Given the description of an element on the screen output the (x, y) to click on. 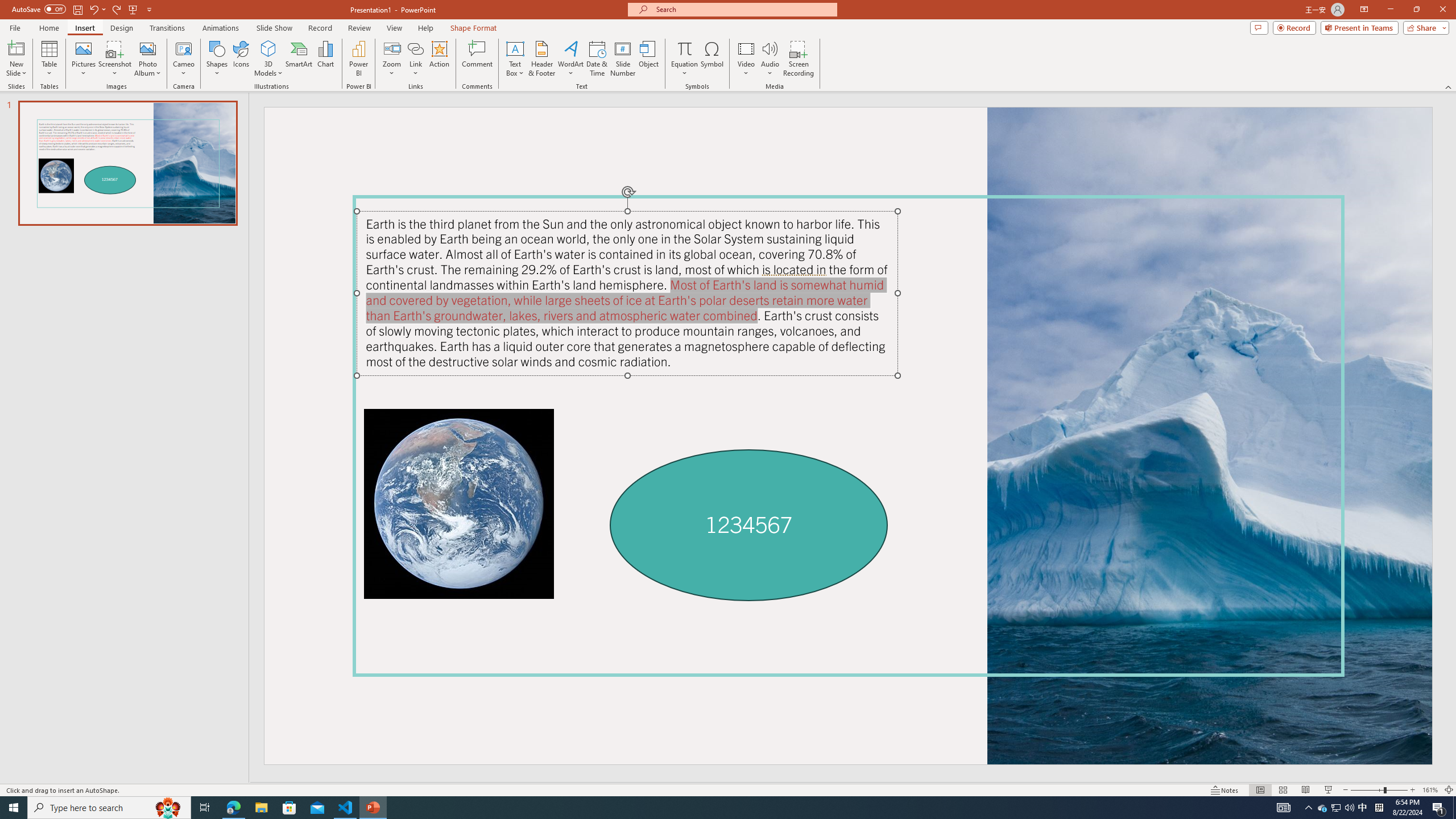
Action (439, 58)
Audio (769, 58)
